Given the description of an element on the screen output the (x, y) to click on. 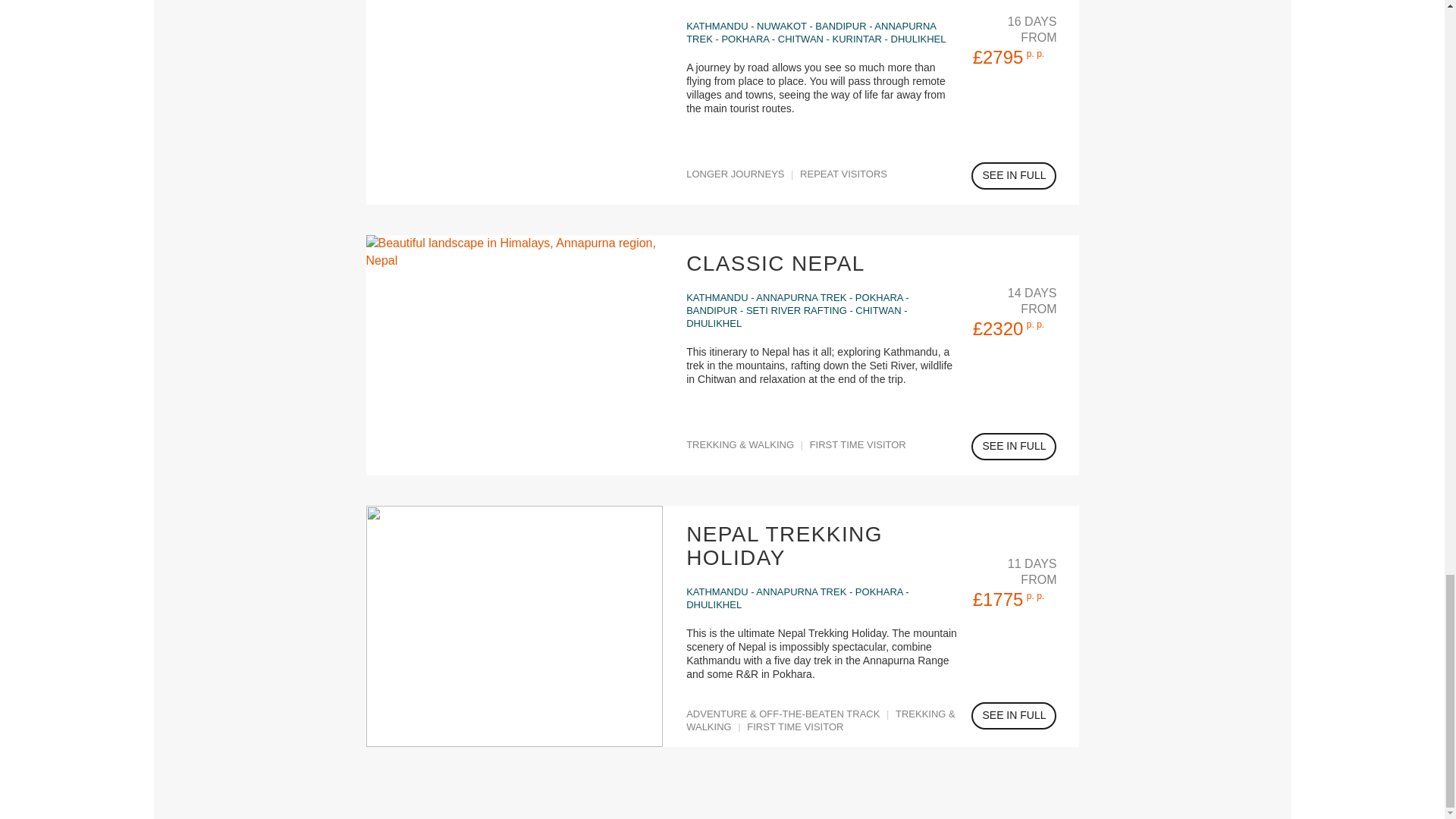
per person (1034, 595)
per person (1034, 324)
per person (1034, 53)
